Given the description of an element on the screen output the (x, y) to click on. 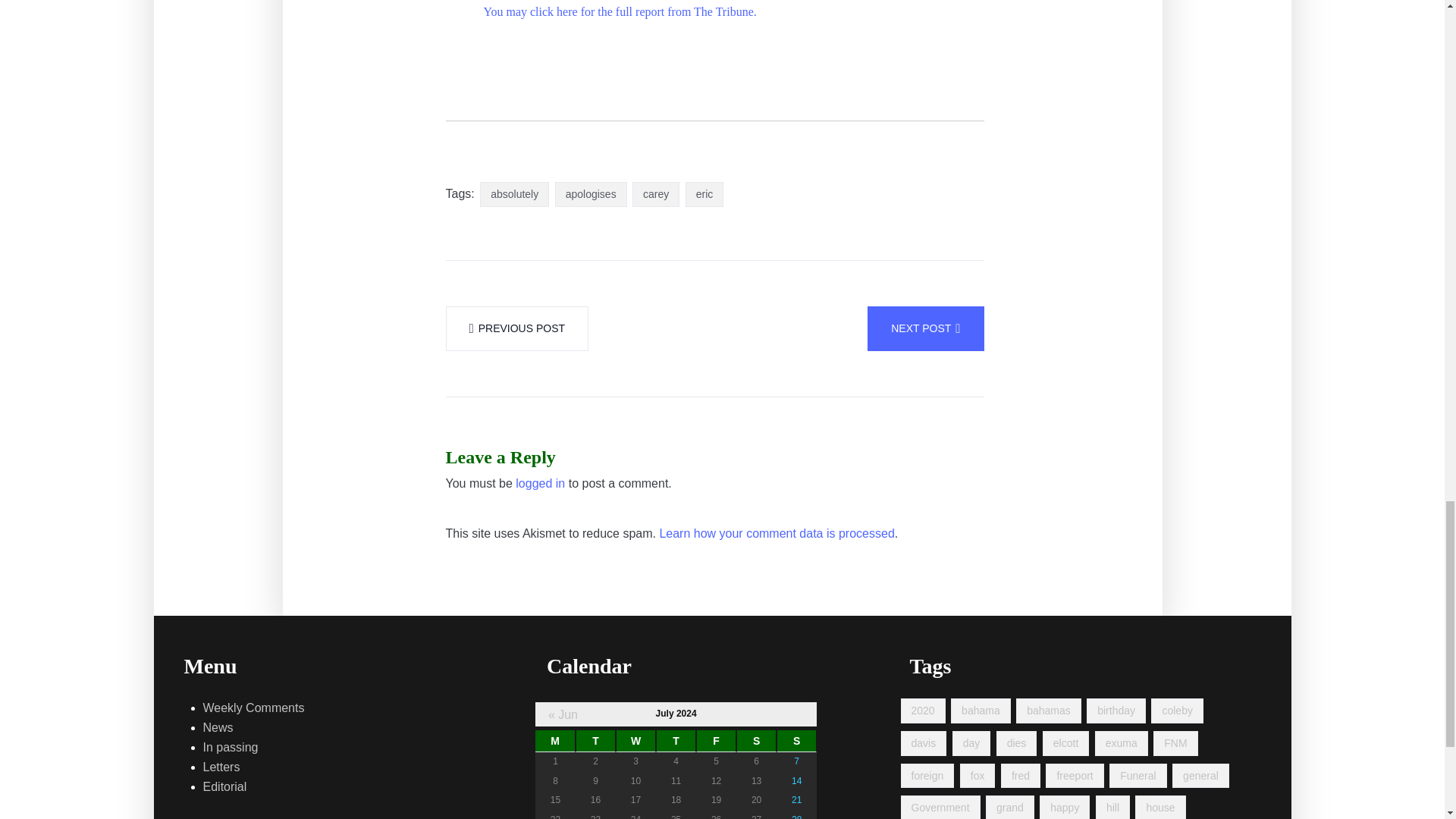
apologises (590, 194)
In passing (231, 747)
Tuesday (595, 741)
absolutely (514, 194)
Learn how your comment data is processed (776, 533)
Wednesday (635, 741)
PREVIOUS POST (517, 328)
NEXT POST (925, 328)
You may click here for the full report from The Tribune. (620, 11)
Saturday (756, 741)
logged in (539, 483)
eric (704, 194)
News (217, 727)
Sunday (796, 741)
Weekly Comments (253, 708)
